Given the description of an element on the screen output the (x, y) to click on. 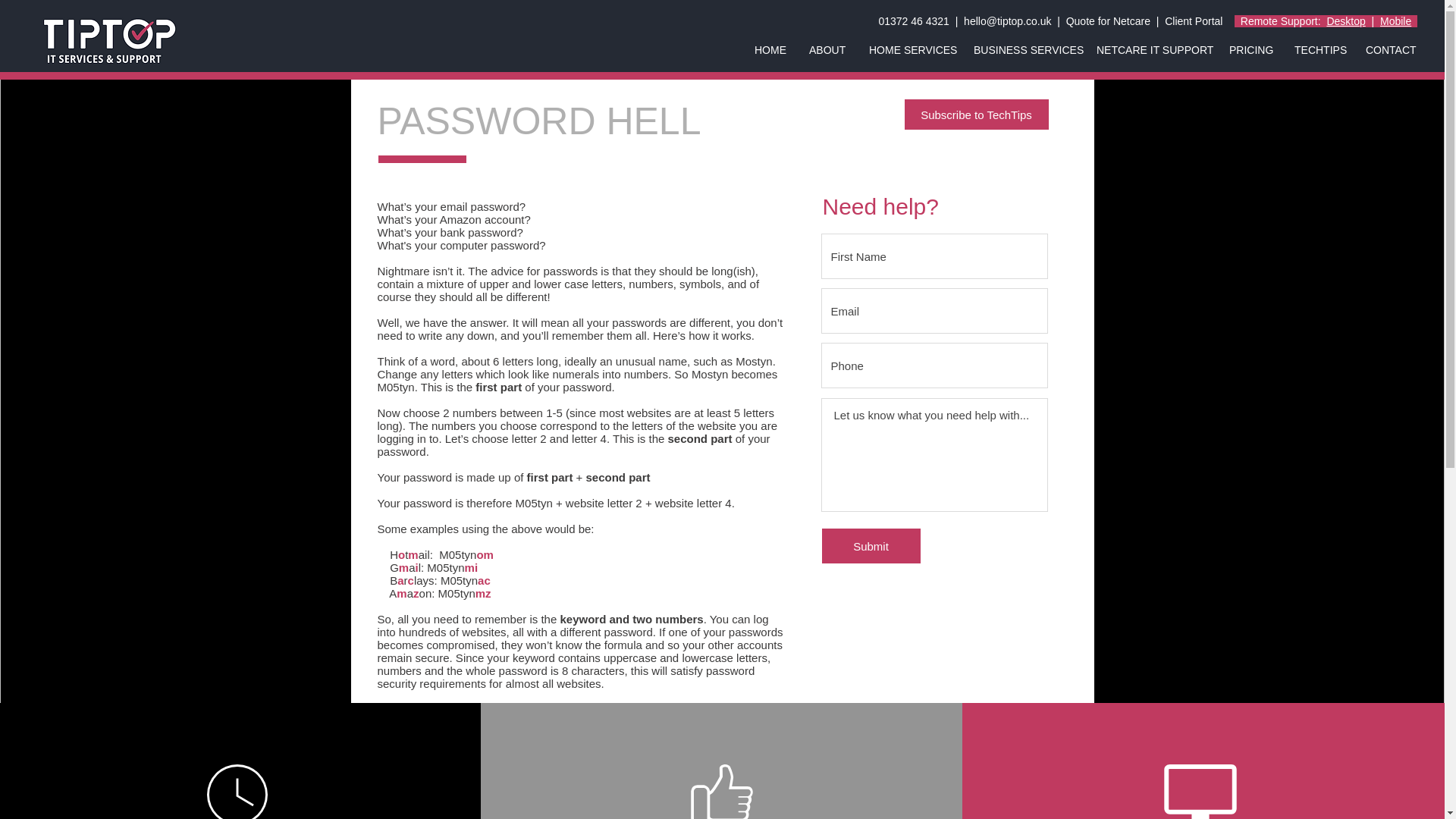
HOME (769, 50)
Submit (871, 545)
Quote for Netcare (1107, 21)
CONTACT (1391, 50)
Mobile (1395, 21)
Client Portal (1193, 21)
Desktop (1345, 21)
01372 46 4321 (913, 21)
Subscribe to TechTips (976, 114)
PRICING (1249, 50)
TECHTIPS (1318, 50)
